Given the description of an element on the screen output the (x, y) to click on. 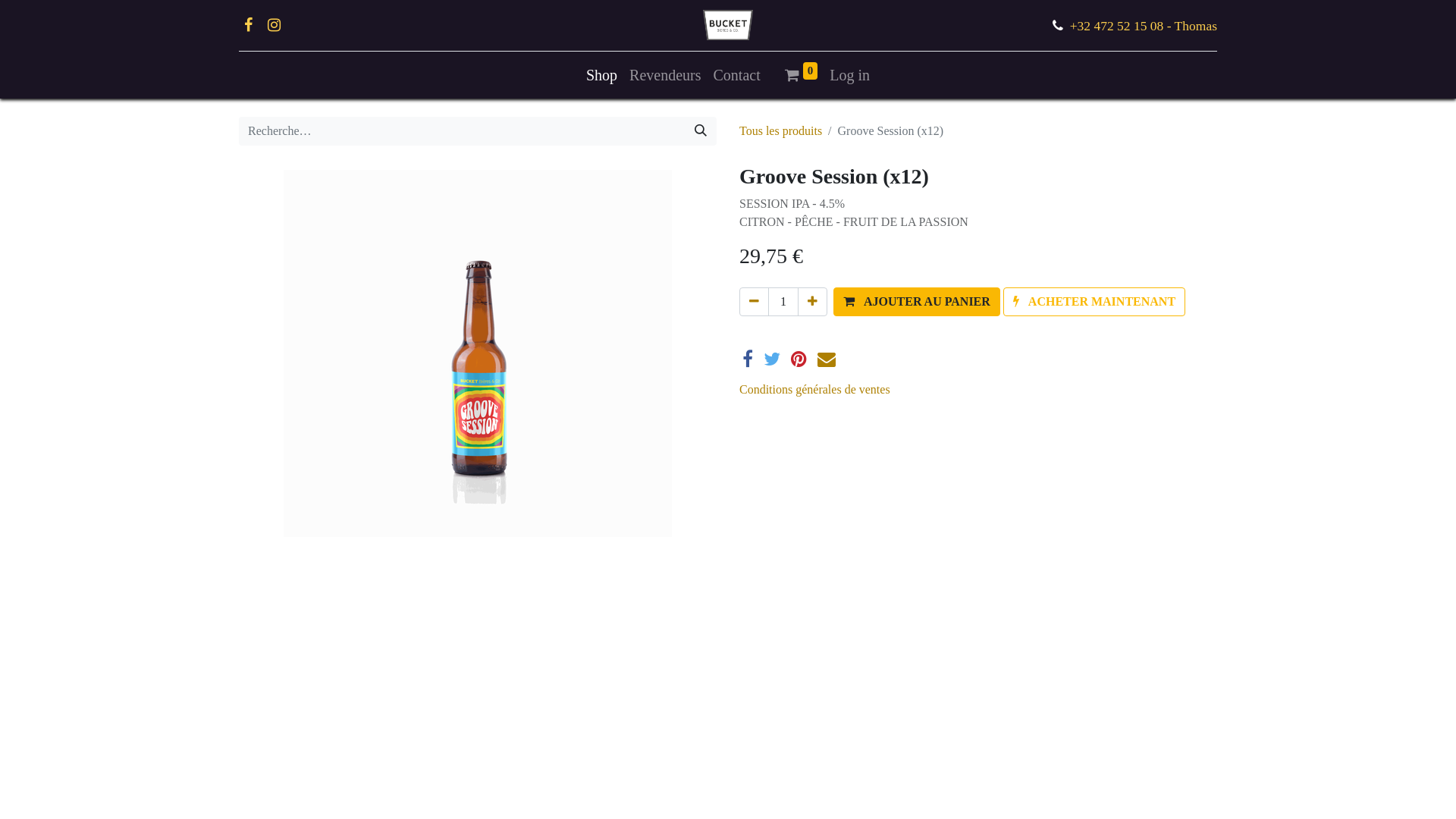
ACHETER MAINTENANT Element type: text (1094, 301)
Rechercher Element type: hover (700, 130)
Log in Element type: text (849, 74)
AJOUTER AU PANIER Element type: text (916, 301)
0 Element type: text (801, 74)
Tous les produits Element type: text (780, 130)
Shop Element type: text (601, 74)
Revendeurs Element type: text (664, 74)
Supprimer Element type: hover (753, 301)
Contact Element type: text (736, 74)
+32 472 52 15 08 - Thomas Element type: text (1143, 25)
Ajouter Element type: hover (812, 301)
